Given the description of an element on the screen output the (x, y) to click on. 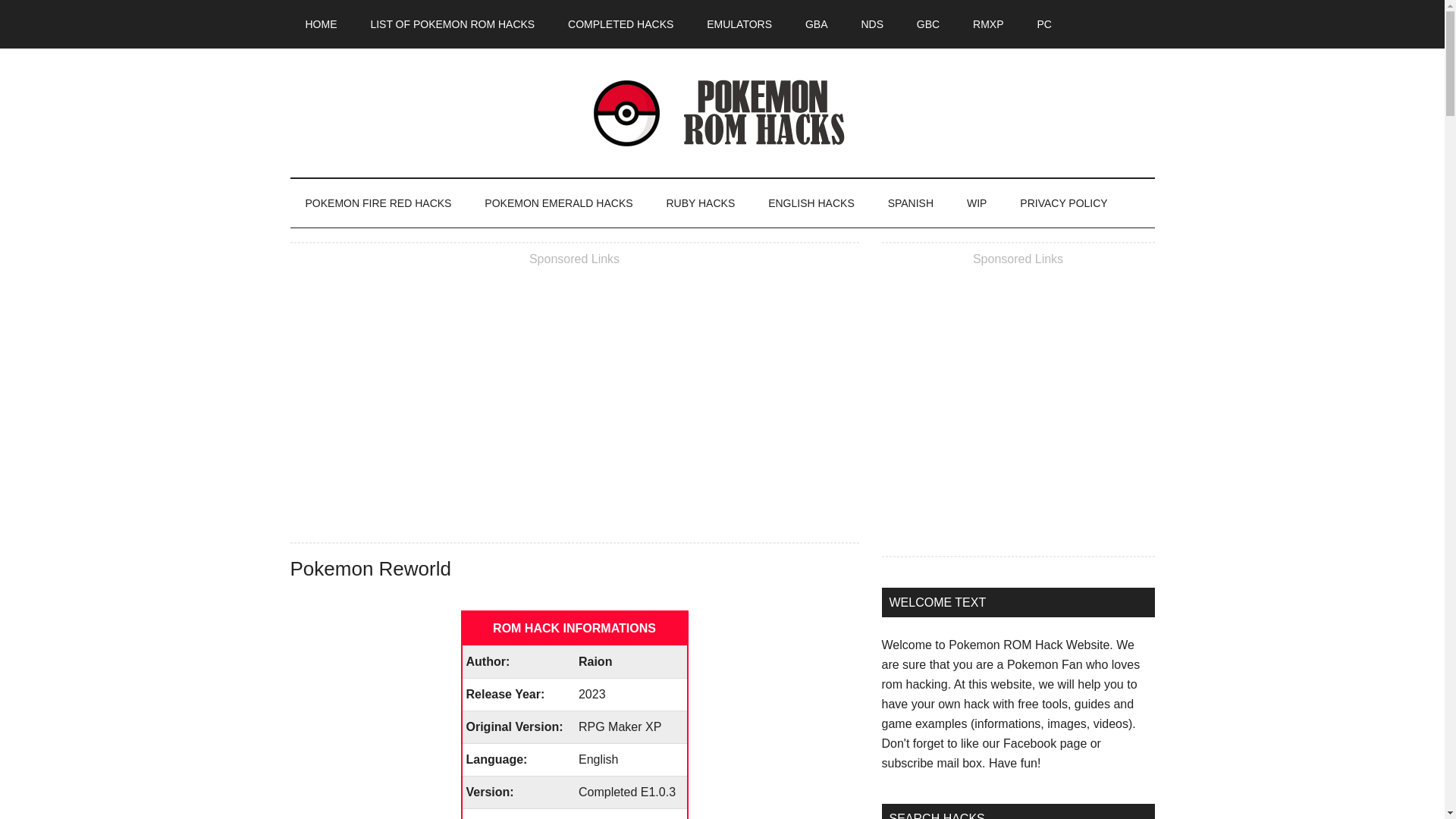
Pokemon ROM Hacks (721, 112)
SPANISH (910, 203)
Advertisement (1017, 409)
POKEMON EMERALD HACKS (557, 203)
POKEMON FIRE RED HACKS (377, 203)
GBC (928, 24)
RMXP (987, 24)
HOME (320, 24)
PRIVACY POLICY (1063, 203)
LIST OF POKEMON ROM HACKS (452, 24)
WIP (976, 203)
Advertisement (574, 397)
COMPLETED HACKS (620, 24)
GBA (816, 24)
ENGLISH HACKS (810, 203)
